Given the description of an element on the screen output the (x, y) to click on. 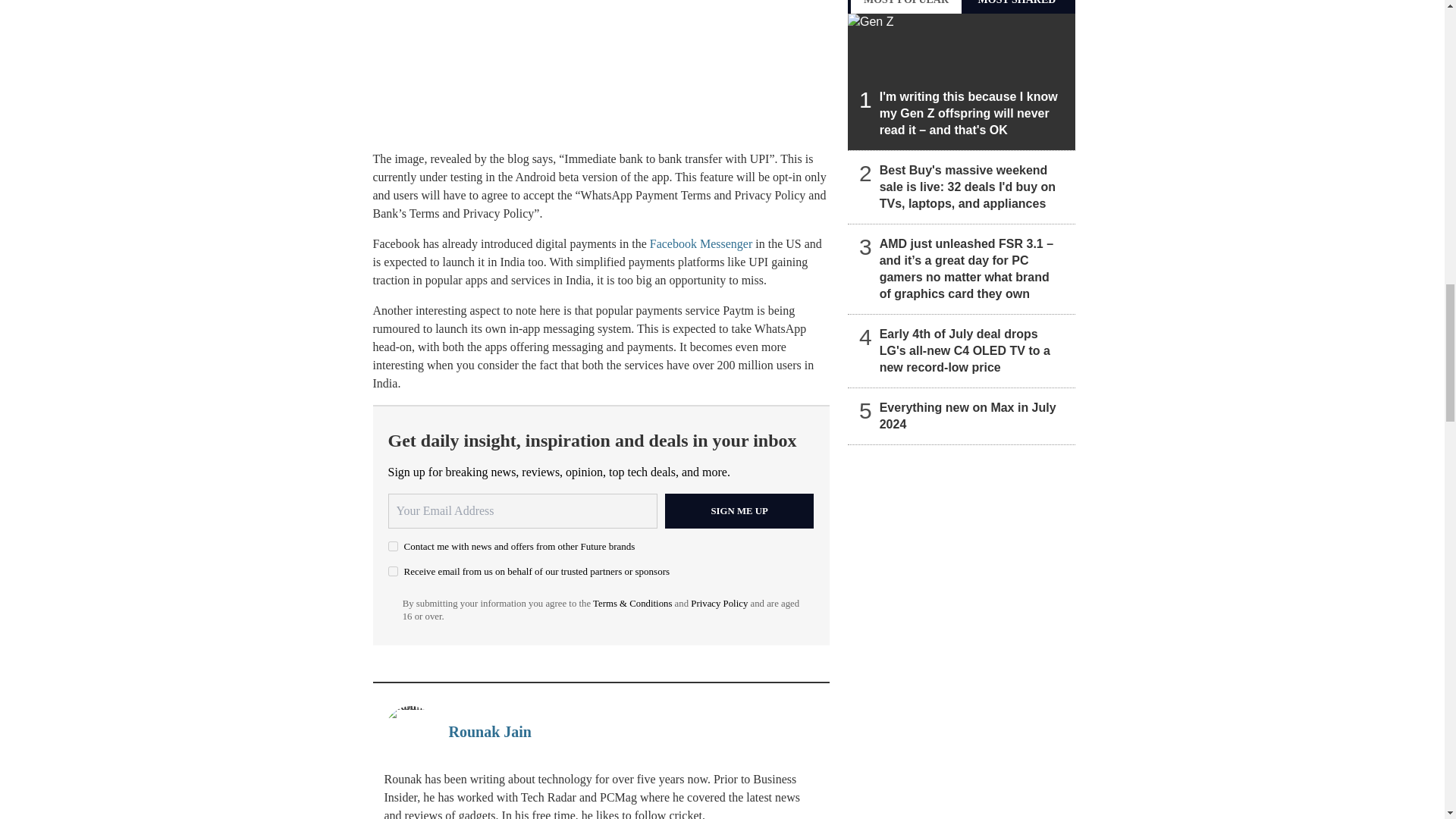
Sign me up (739, 510)
on (392, 571)
on (392, 546)
